Given the description of an element on the screen output the (x, y) to click on. 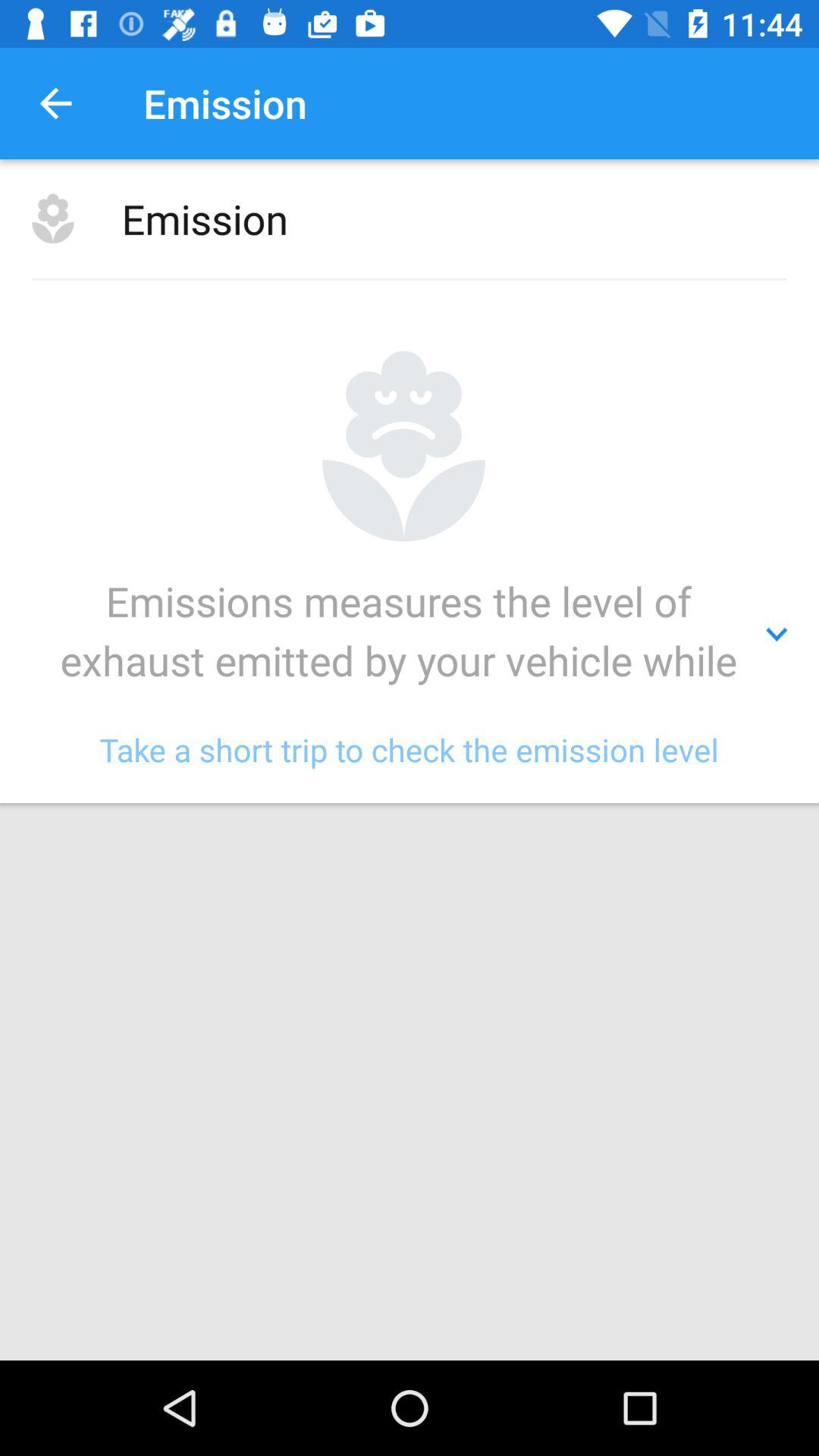
launch the icon next to emission icon (55, 103)
